Given the description of an element on the screen output the (x, y) to click on. 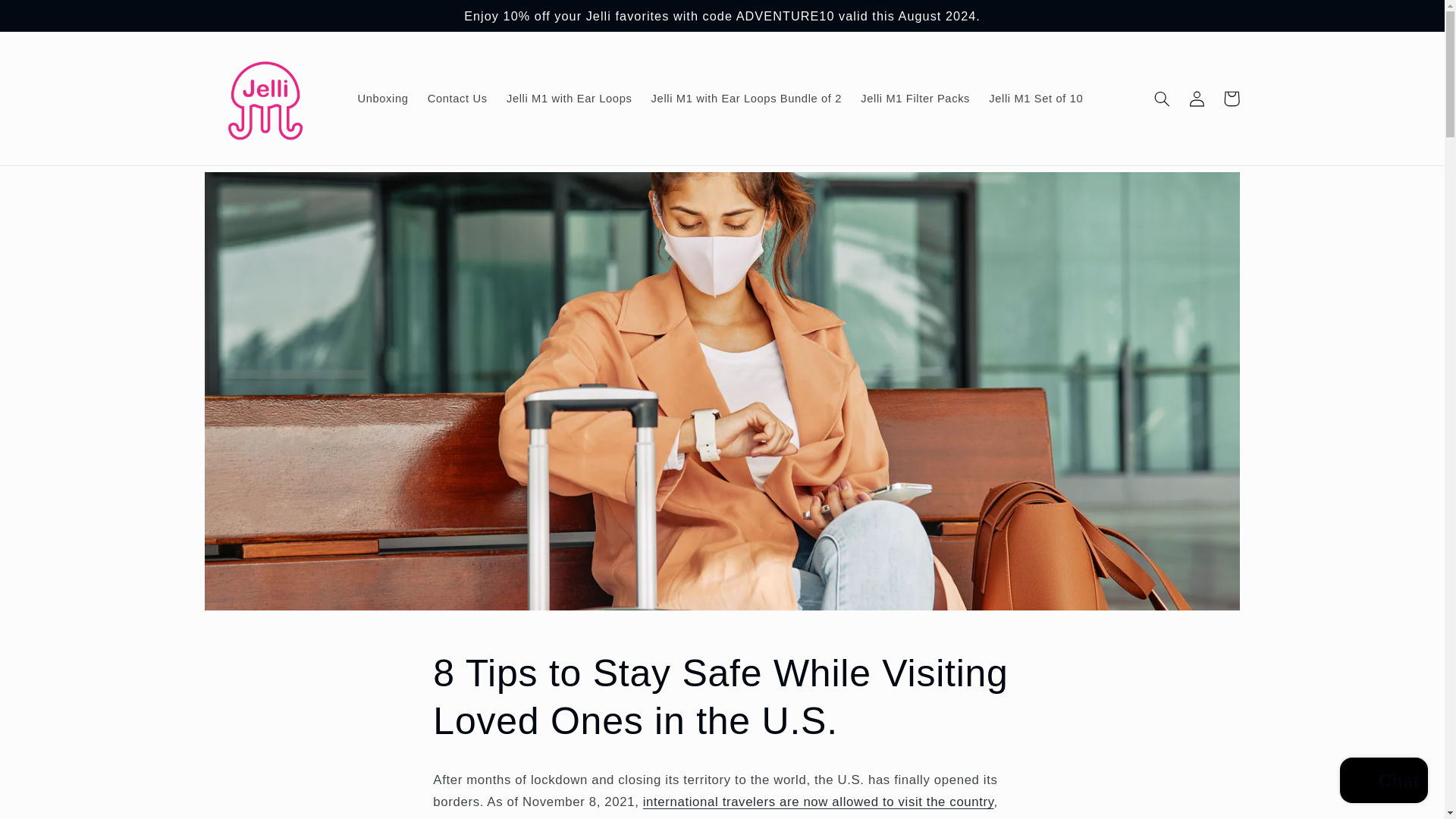
Jelli M1 Set of 10 (1036, 98)
Contact Us (456, 98)
Log in (1196, 98)
Jelli M1 with Ear Loops Bundle of 2 (746, 98)
Skip to content (48, 18)
Unboxing (382, 98)
Jelli M1 with Ear Loops (569, 98)
Cart (1231, 98)
Jelli M1 Filter Packs (915, 98)
international travelers are now allowed to visit the country (818, 801)
